Given the description of an element on the screen output the (x, y) to click on. 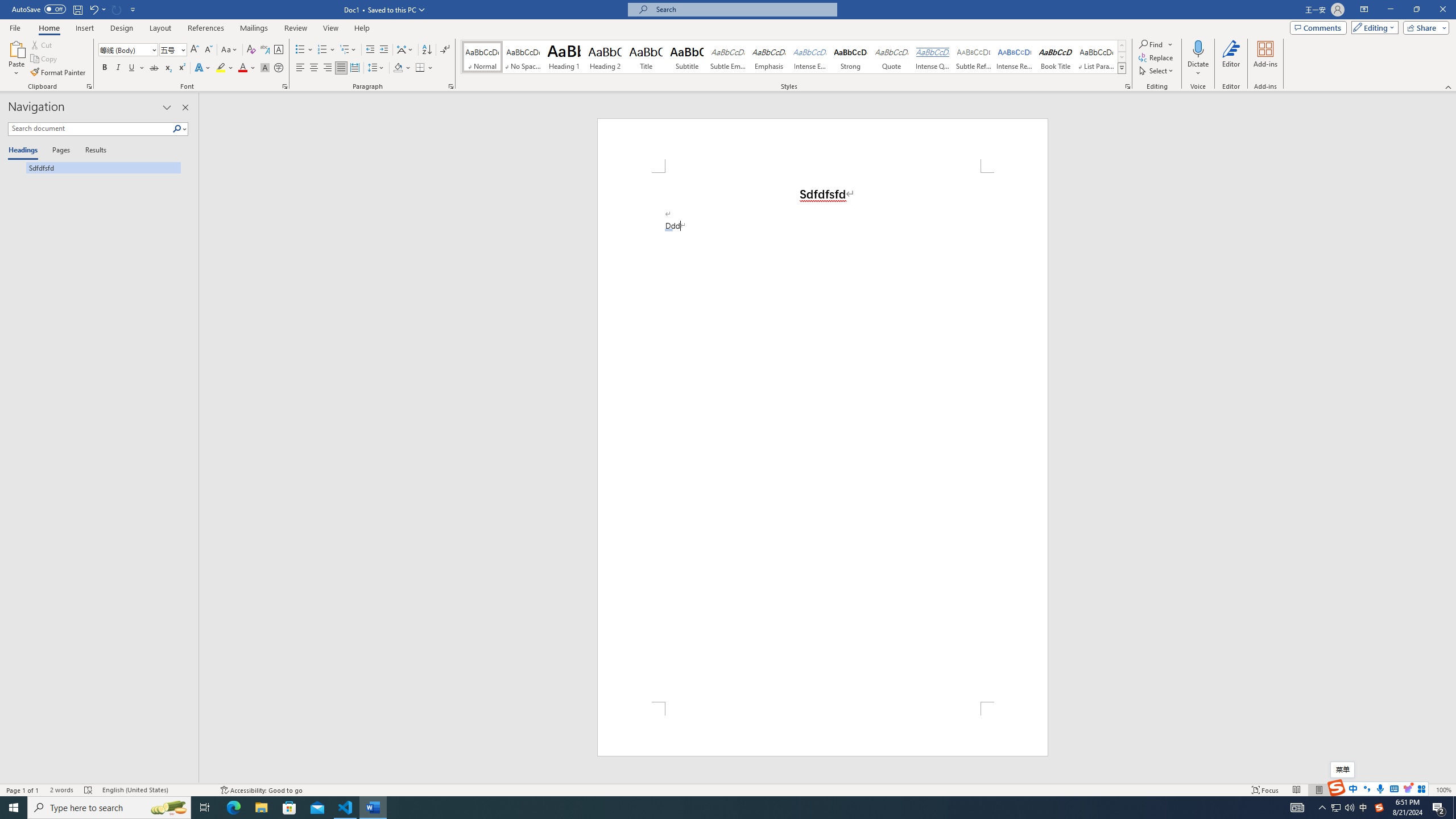
Page 1 content (822, 436)
